Given the description of an element on the screen output the (x, y) to click on. 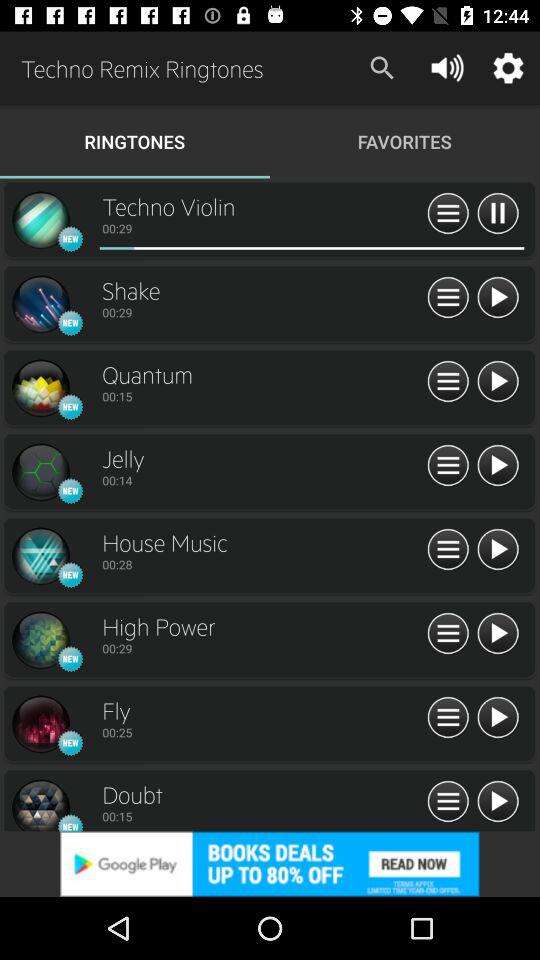
click the icon (40, 724)
